Given the description of an element on the screen output the (x, y) to click on. 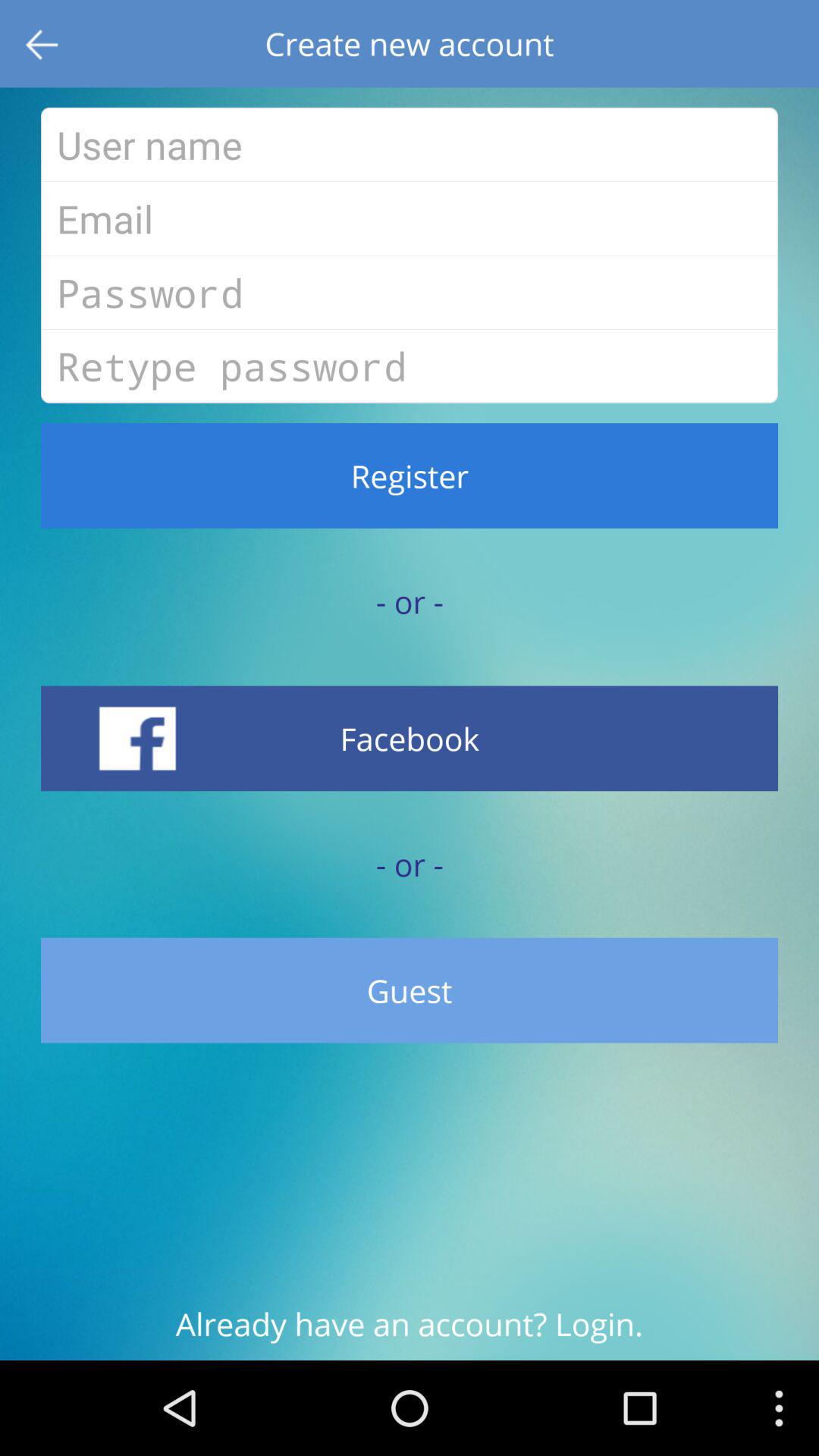
jump to register item (409, 475)
